Given the description of an element on the screen output the (x, y) to click on. 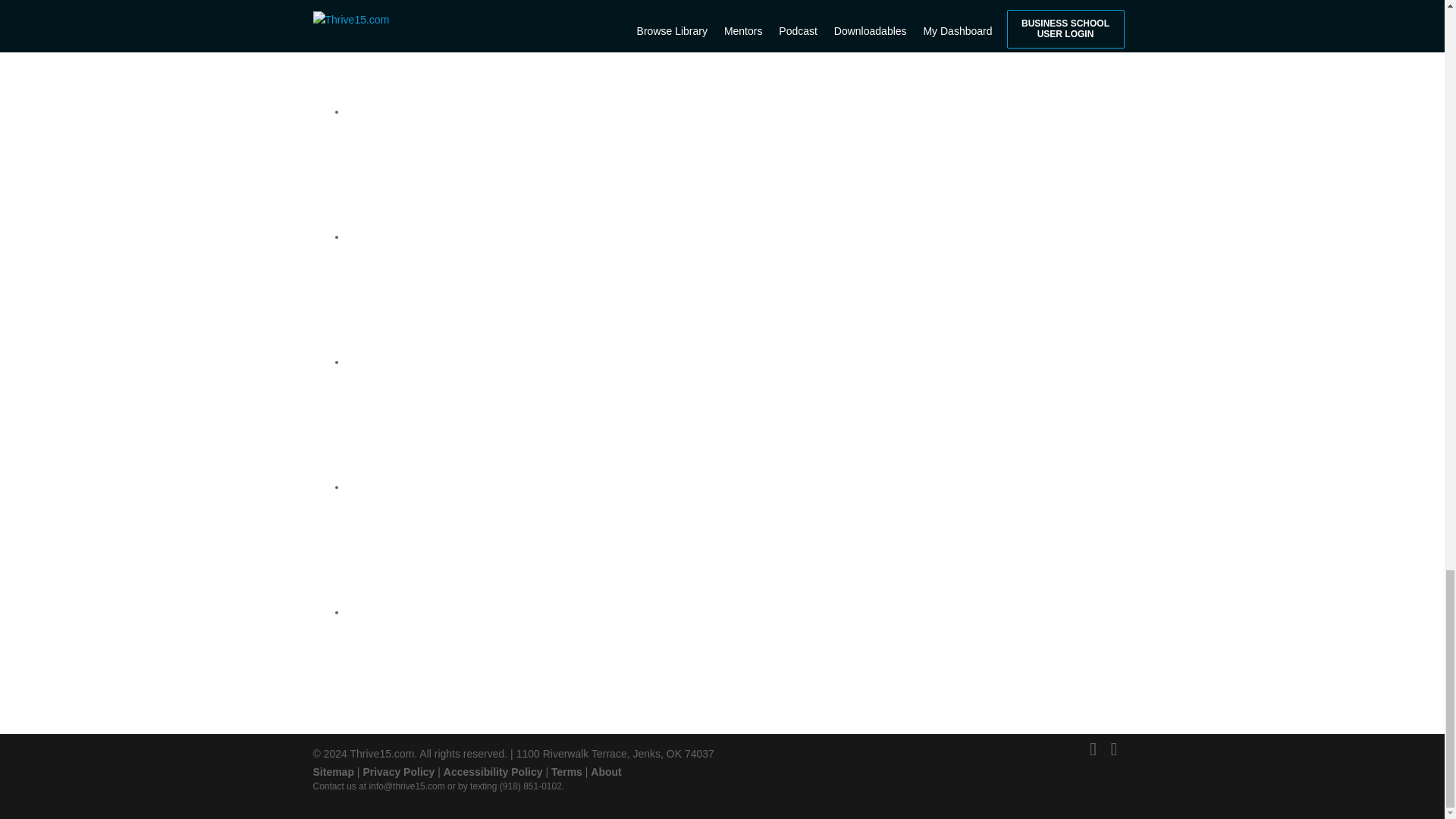
Sitemap (333, 771)
Accessibility Policy (493, 771)
Terms (566, 771)
About (606, 771)
Privacy Policy (397, 771)
